Given the description of an element on the screen output the (x, y) to click on. 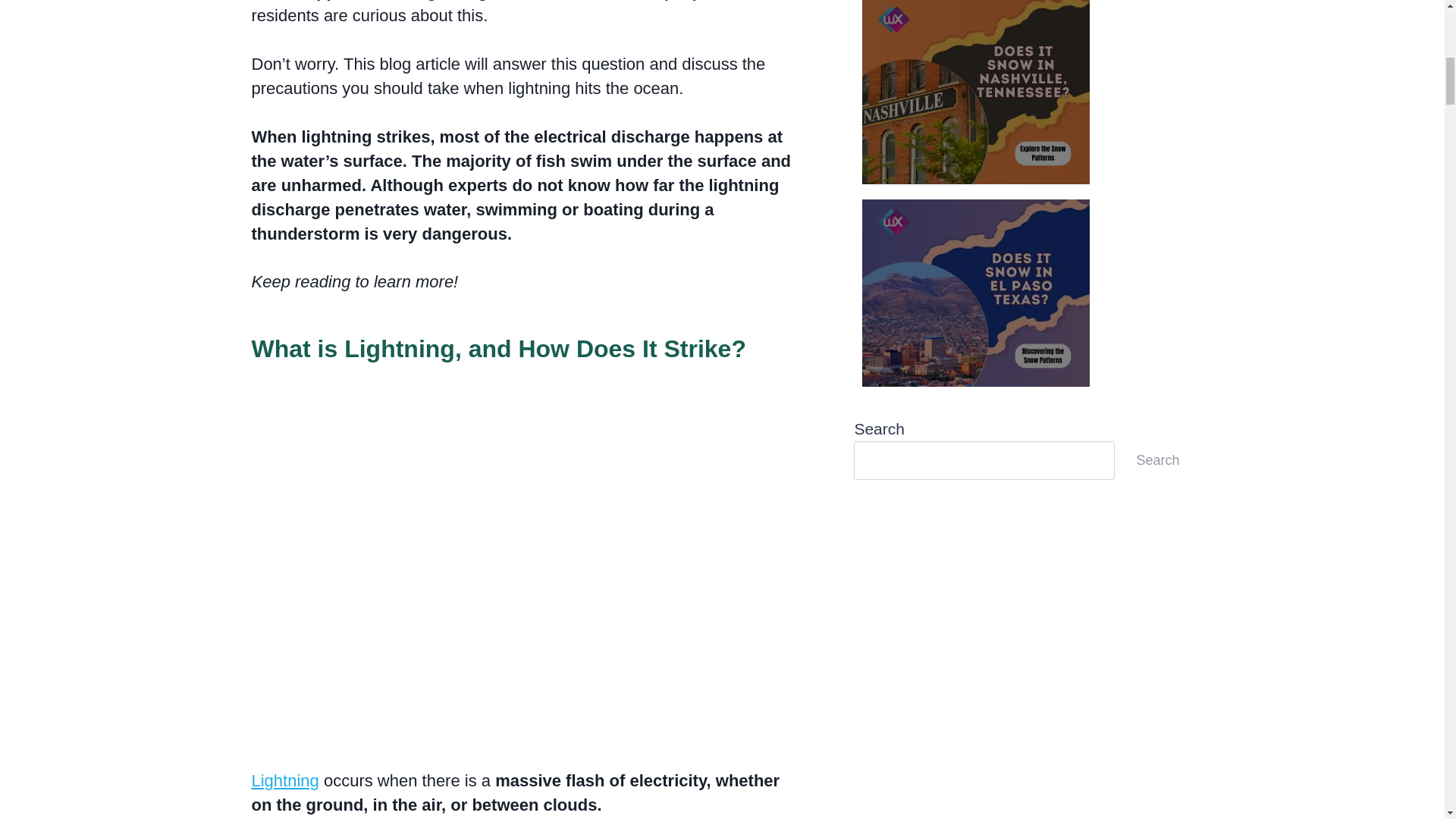
Lightning (284, 780)
Search (1157, 460)
